Given the description of an element on the screen output the (x, y) to click on. 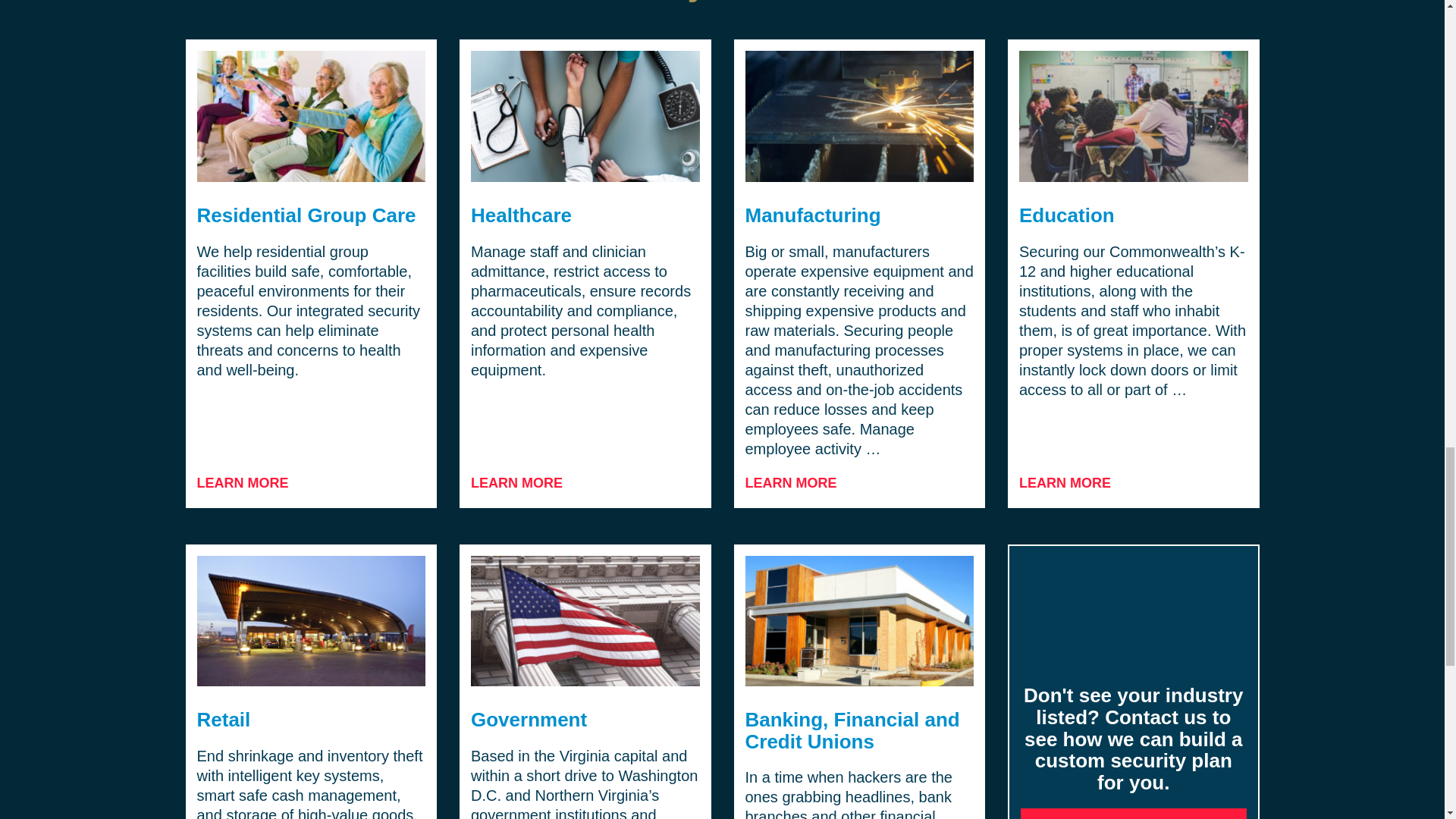
LEARN MORE (242, 483)
Residential Group Care (306, 214)
